Given the description of an element on the screen output the (x, y) to click on. 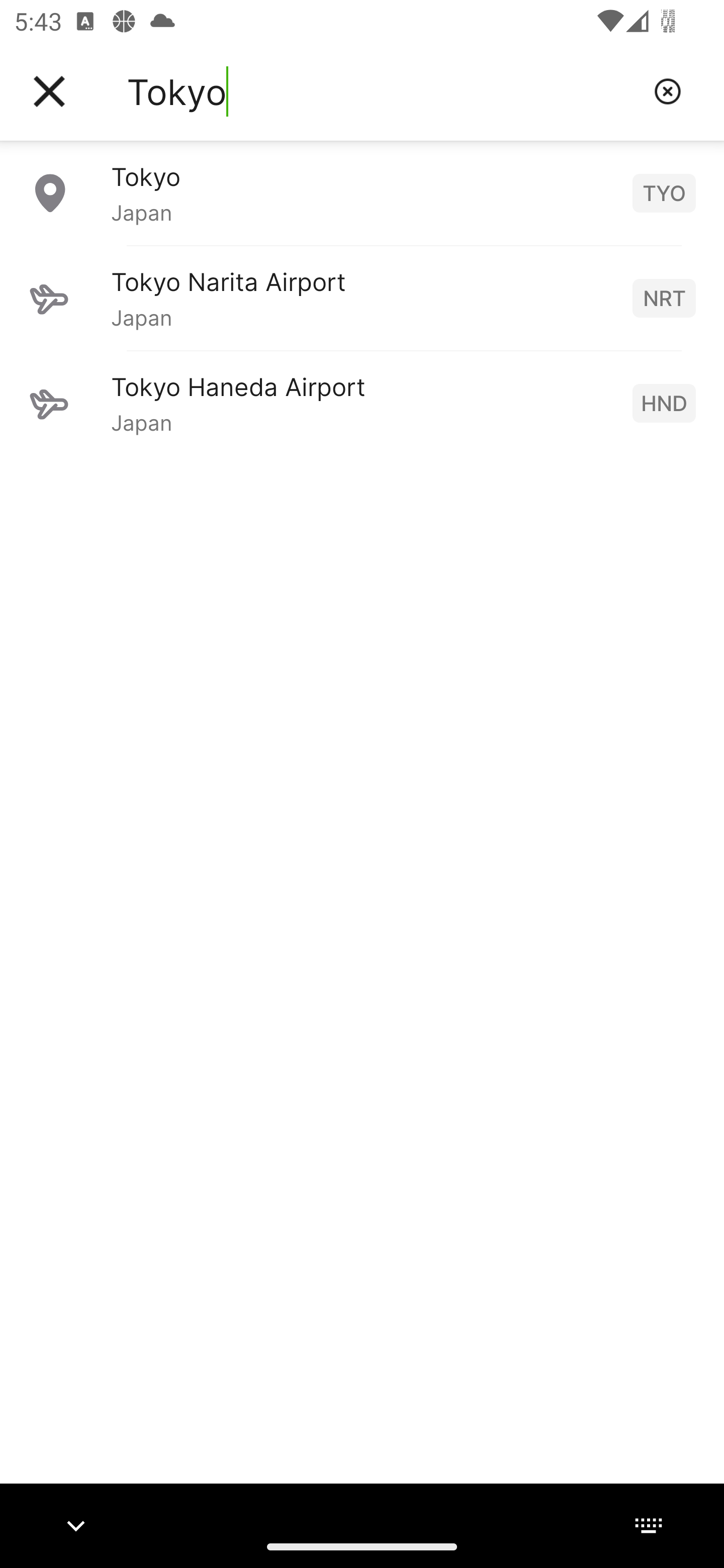
Tokyo (382, 91)
Tokyo Japan TYO (362, 192)
Tokyo Narita Airport Japan NRT (362, 297)
Tokyo Haneda Airport Japan HND (362, 402)
